Given the description of an element on the screen output the (x, y) to click on. 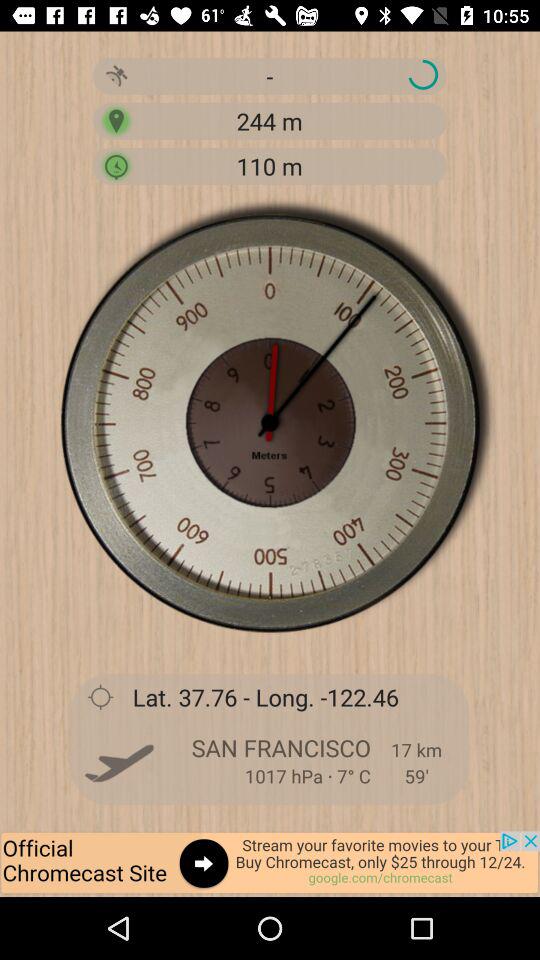
advertisement (270, 864)
